Given the description of an element on the screen output the (x, y) to click on. 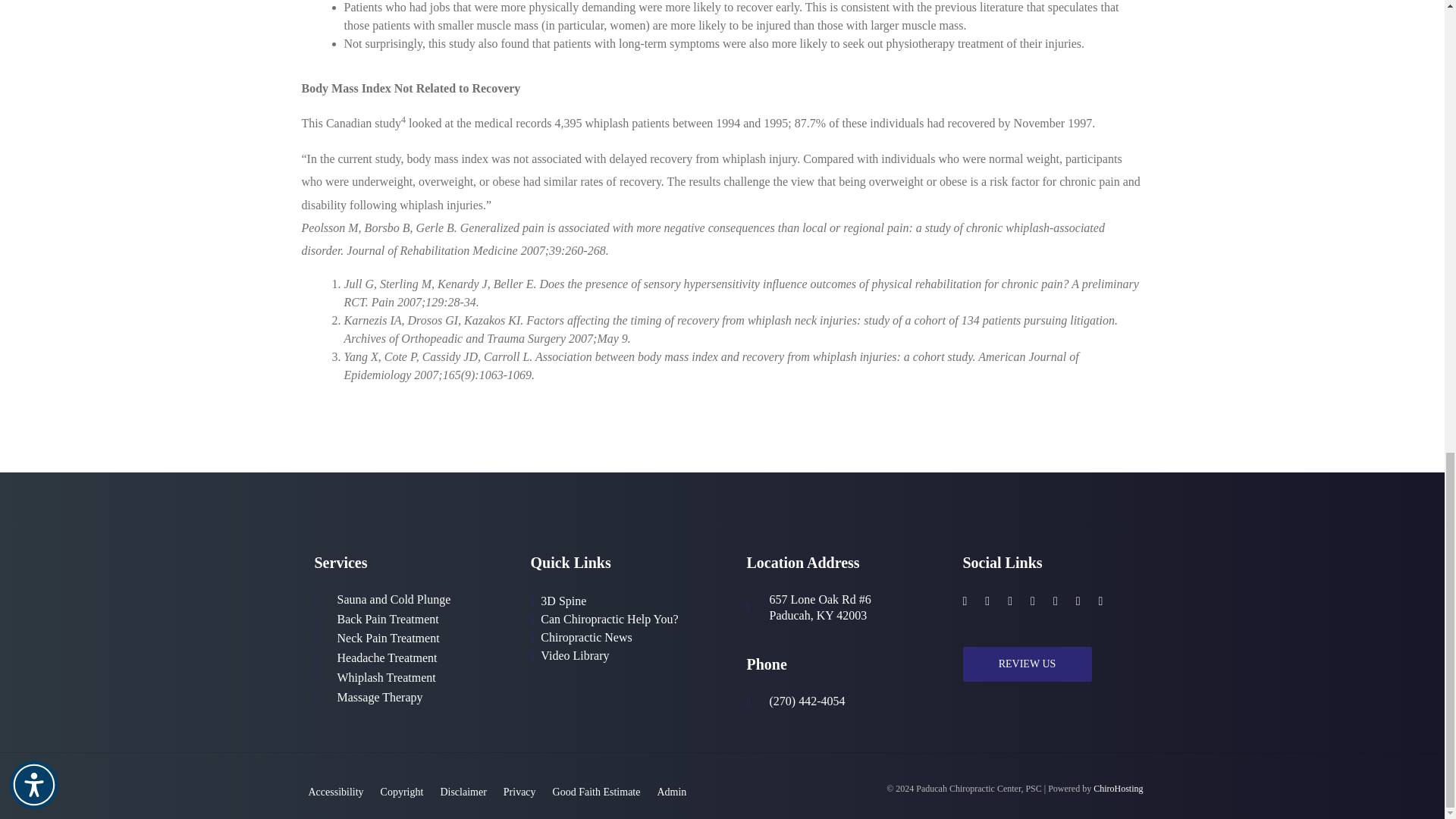
Whiplash Treatment (385, 678)
Sauna and Cold Plunge (392, 600)
Massage Therapy (379, 697)
Can Chiropractic Help You? (609, 619)
Neck Pain Treatment (387, 638)
Headache Treatment (386, 658)
3D Spine (563, 601)
Back Pain Treatment (387, 619)
